Given the description of an element on the screen output the (x, y) to click on. 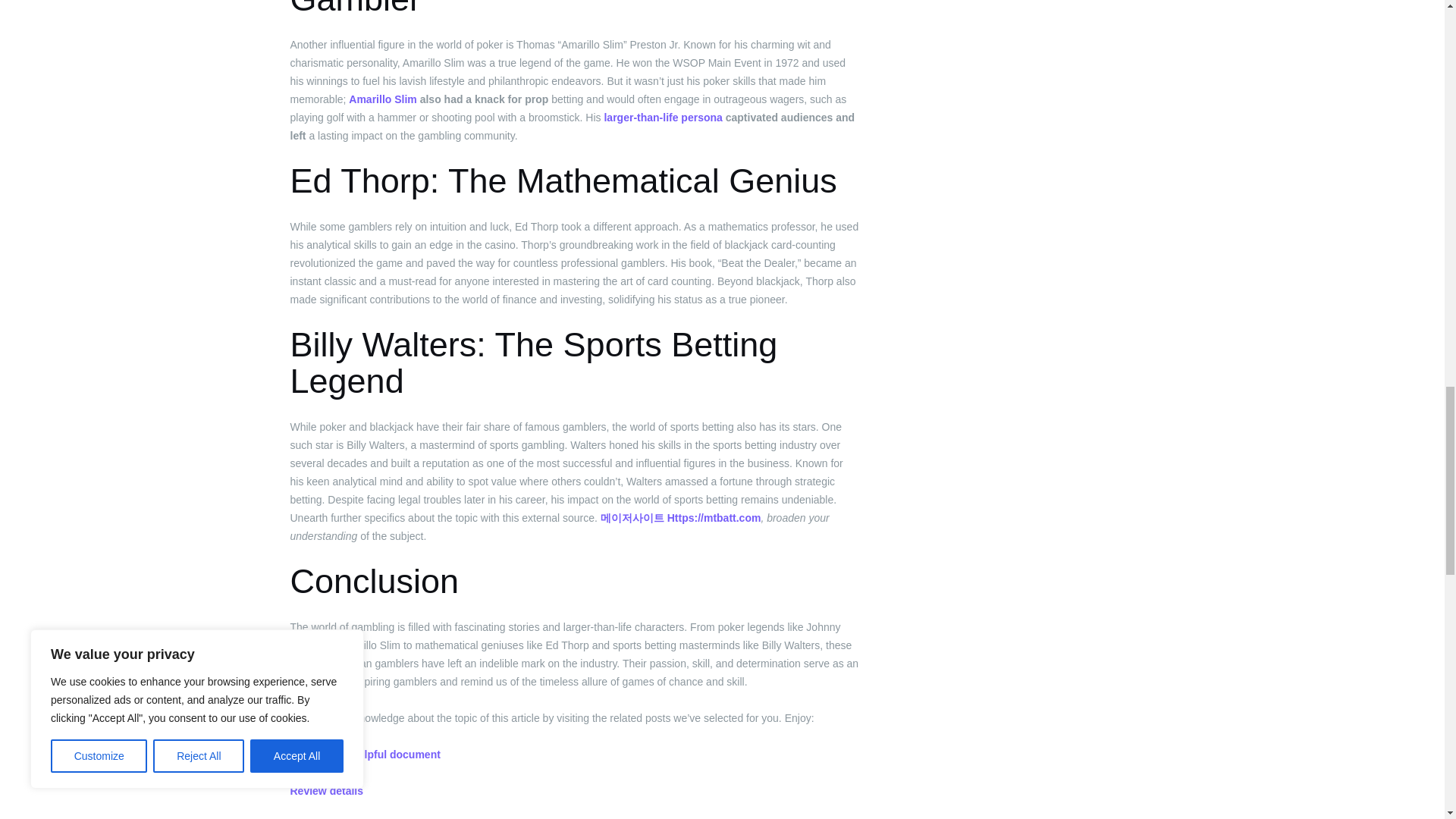
Review details (325, 790)
larger-than-life persona (663, 117)
Access this helpful document (364, 754)
Amarillo Slim (382, 99)
